Given the description of an element on the screen output the (x, y) to click on. 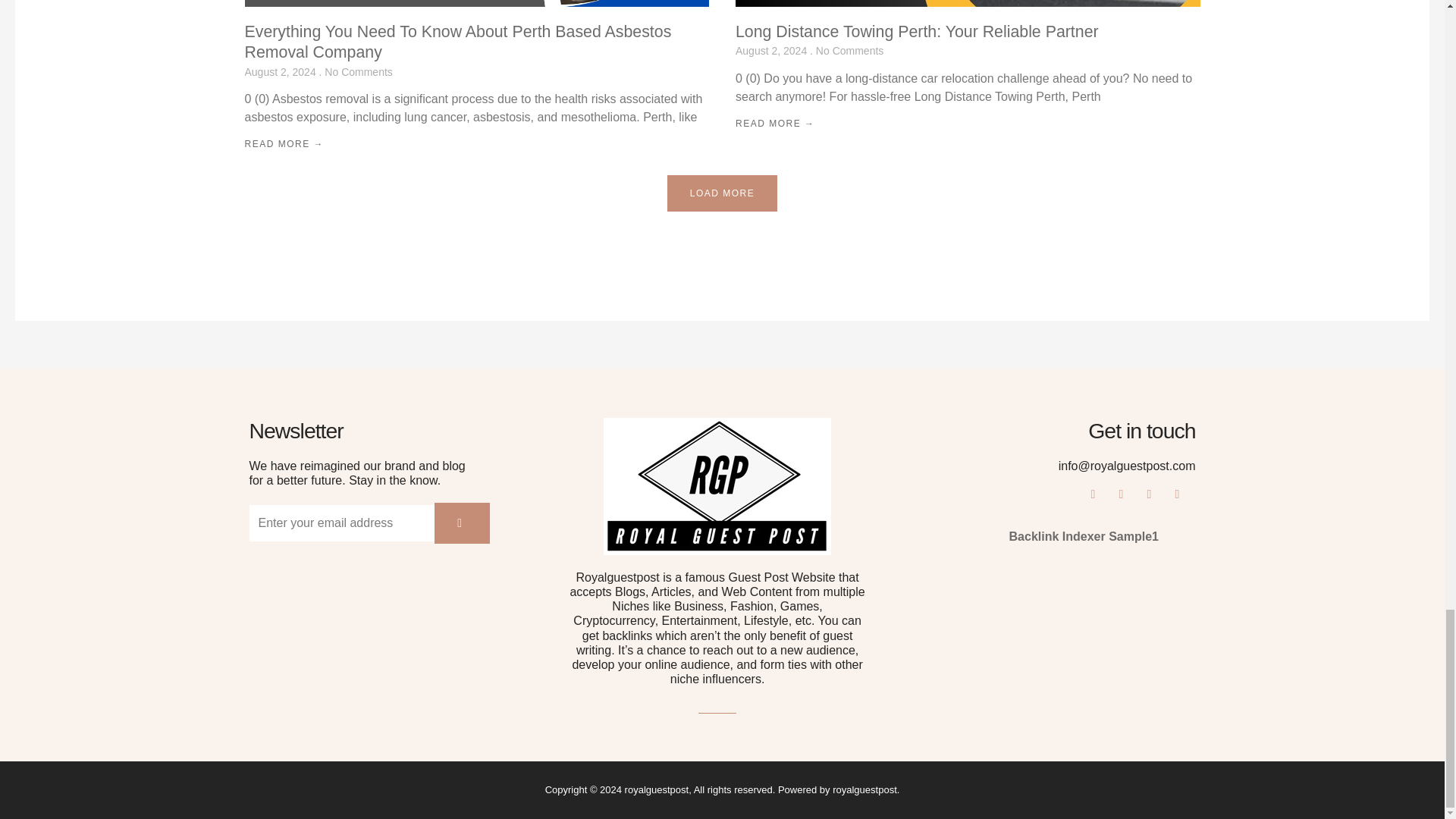
LOAD MORE (721, 193)
Long Distance Towing Perth: Your Reliable Partner (917, 31)
